Given the description of an element on the screen output the (x, y) to click on. 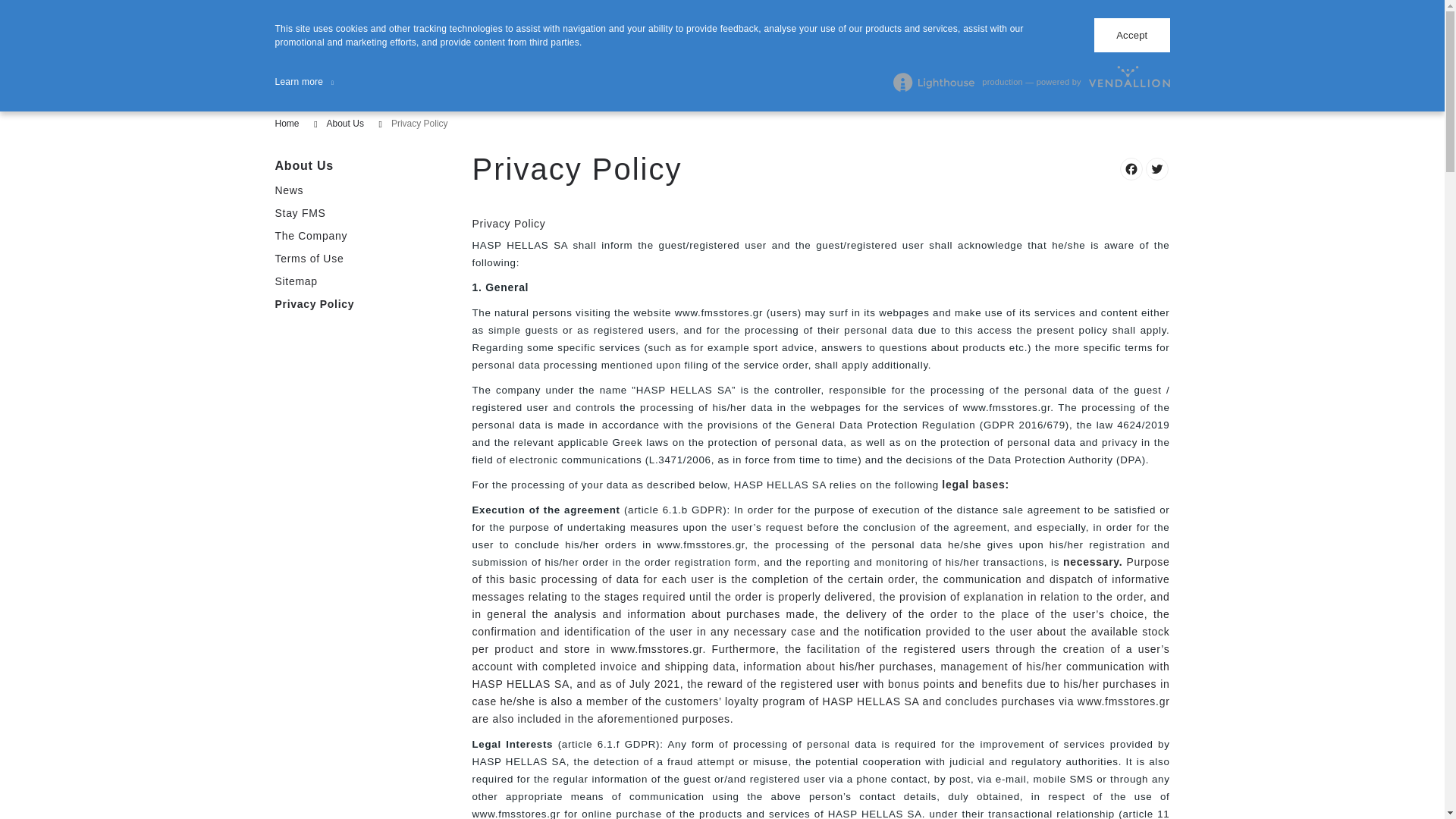
EN (289, 54)
EARN POINTS with your purchases (1020, 13)
Accept (1131, 35)
Lighthouse (933, 81)
SWIMWEAR (561, 94)
NEW ARRIVALS (465, 94)
READ MORE (443, 53)
Learn more (304, 81)
SWIMWEAR (561, 94)
Learn more (304, 81)
Vendallion (1129, 81)
NEW ARRIVALS (465, 94)
PHONE ORDERS: 210 300 4610 (721, 13)
